Given the description of an element on the screen output the (x, y) to click on. 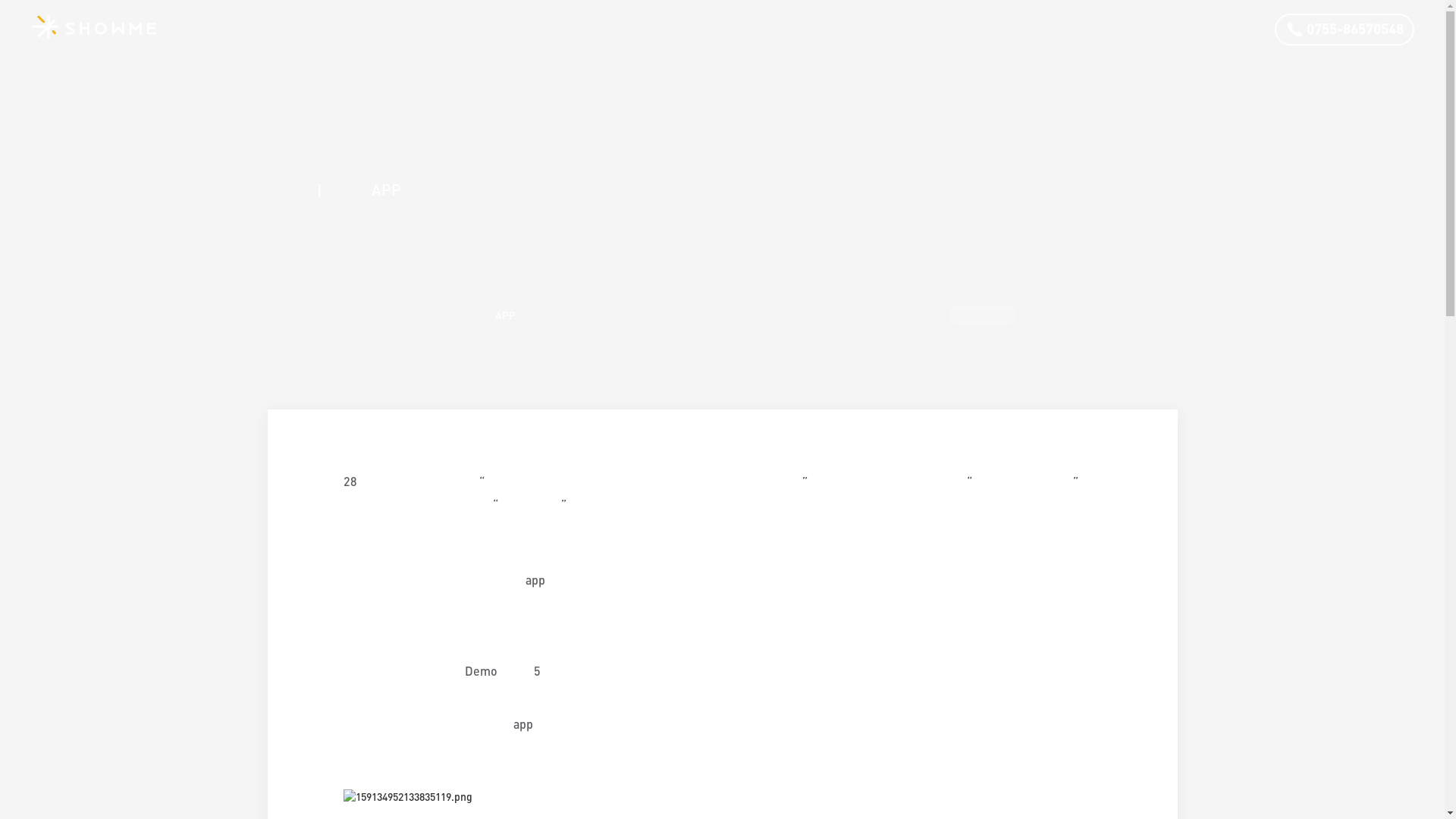
0755-86570548 Element type: text (1344, 29)
159134952133835119.png Element type: hover (406, 796)
  Element type: text (1408, 733)
